Given the description of an element on the screen output the (x, y) to click on. 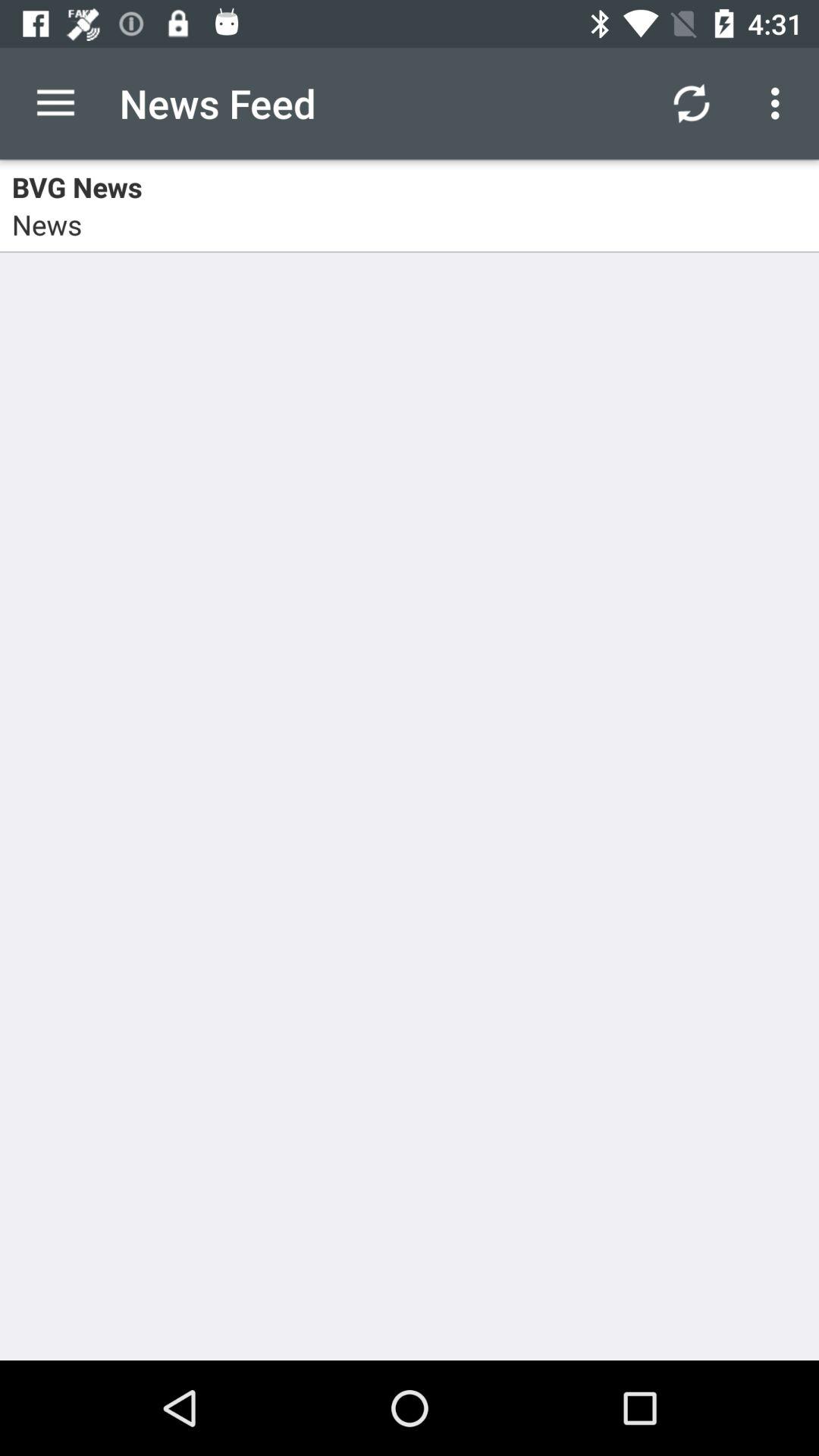
click the app next to the news feed app (691, 103)
